Given the description of an element on the screen output the (x, y) to click on. 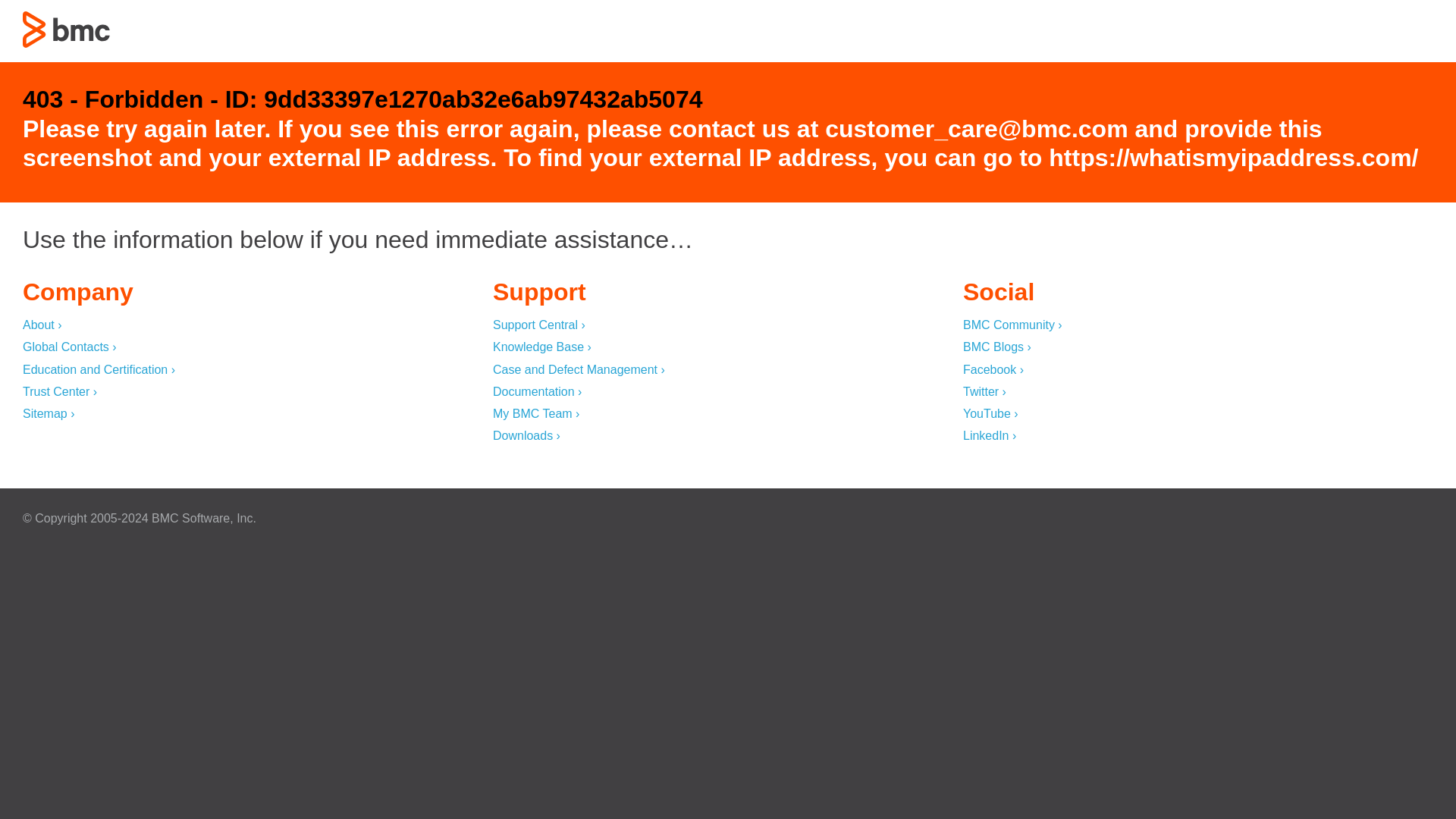
403 - Forbidden (66, 29)
